Given the description of an element on the screen output the (x, y) to click on. 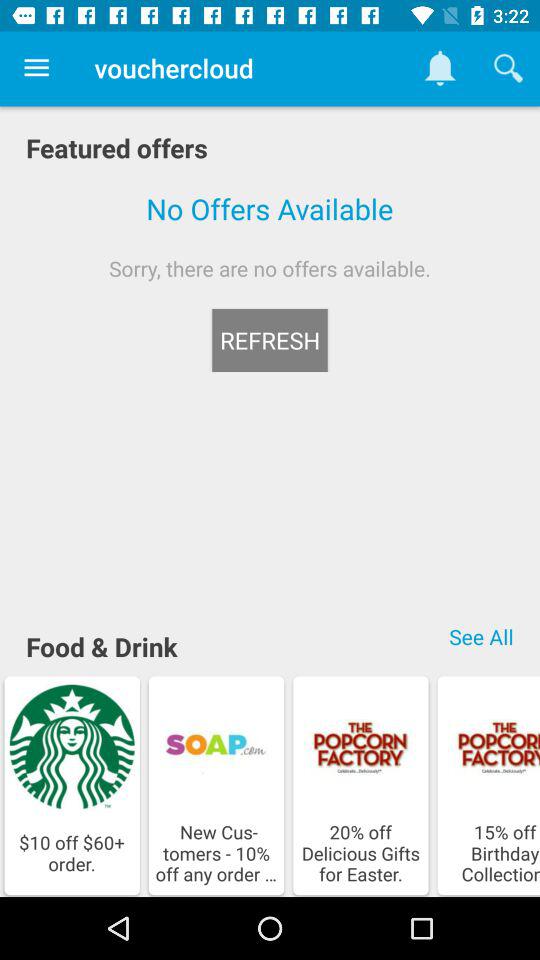
jump until the see all icon (481, 636)
